Given the description of an element on the screen output the (x, y) to click on. 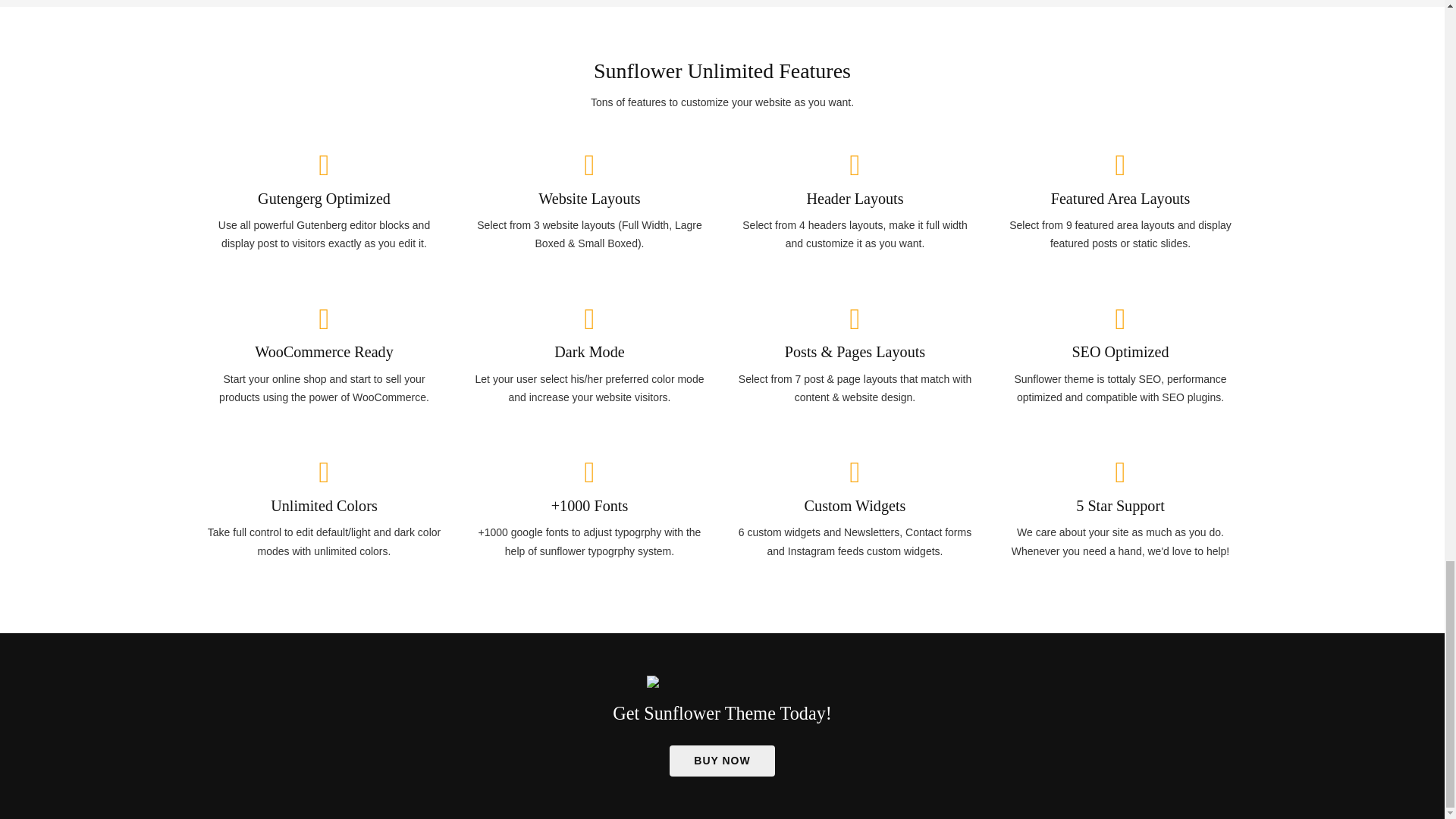
BUY NOW (721, 760)
